Given the description of an element on the screen output the (x, y) to click on. 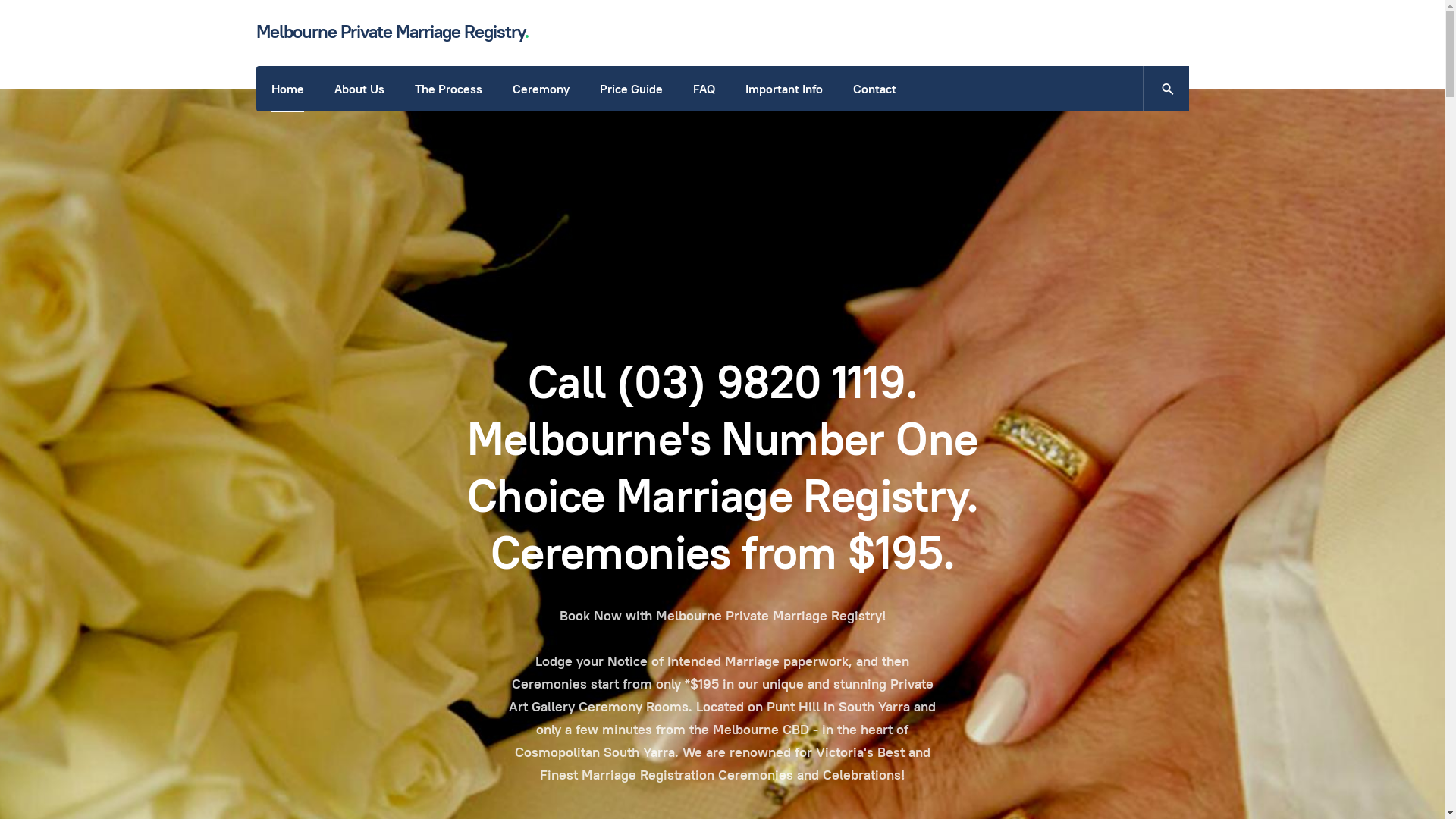
The Process Element type: text (447, 88)
Melbourne Private Marriage Registry. Element type: text (392, 31)
About Us Element type: text (358, 88)
Important Info Element type: text (783, 88)
Contact Element type: text (873, 88)
Ceremony Element type: text (540, 88)
Home Element type: text (287, 88)
Price Guide Element type: text (630, 88)
FAQ Element type: text (704, 88)
